Given the description of an element on the screen output the (x, y) to click on. 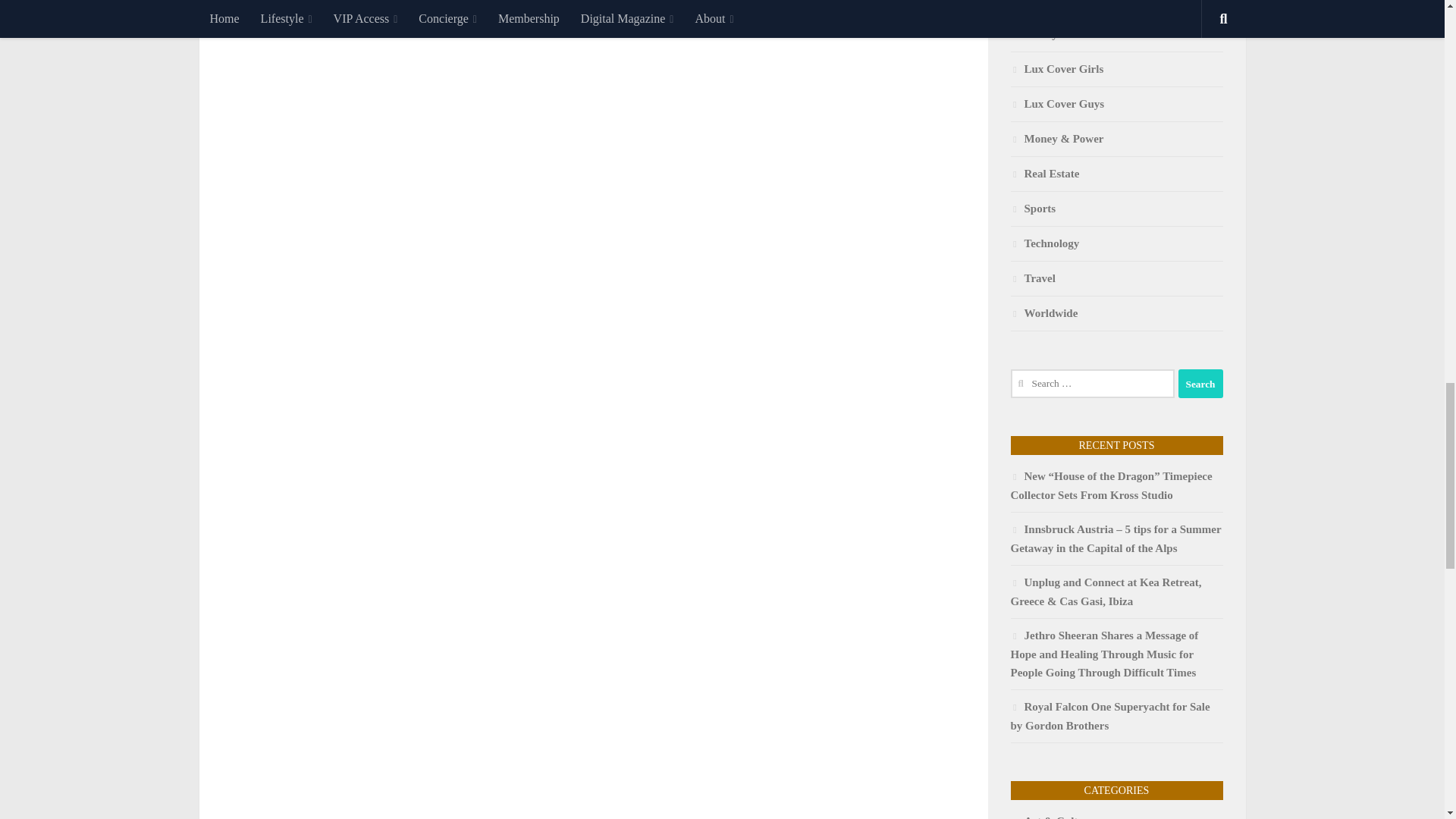
Search (1200, 383)
Search (1200, 383)
